Given the description of an element on the screen output the (x, y) to click on. 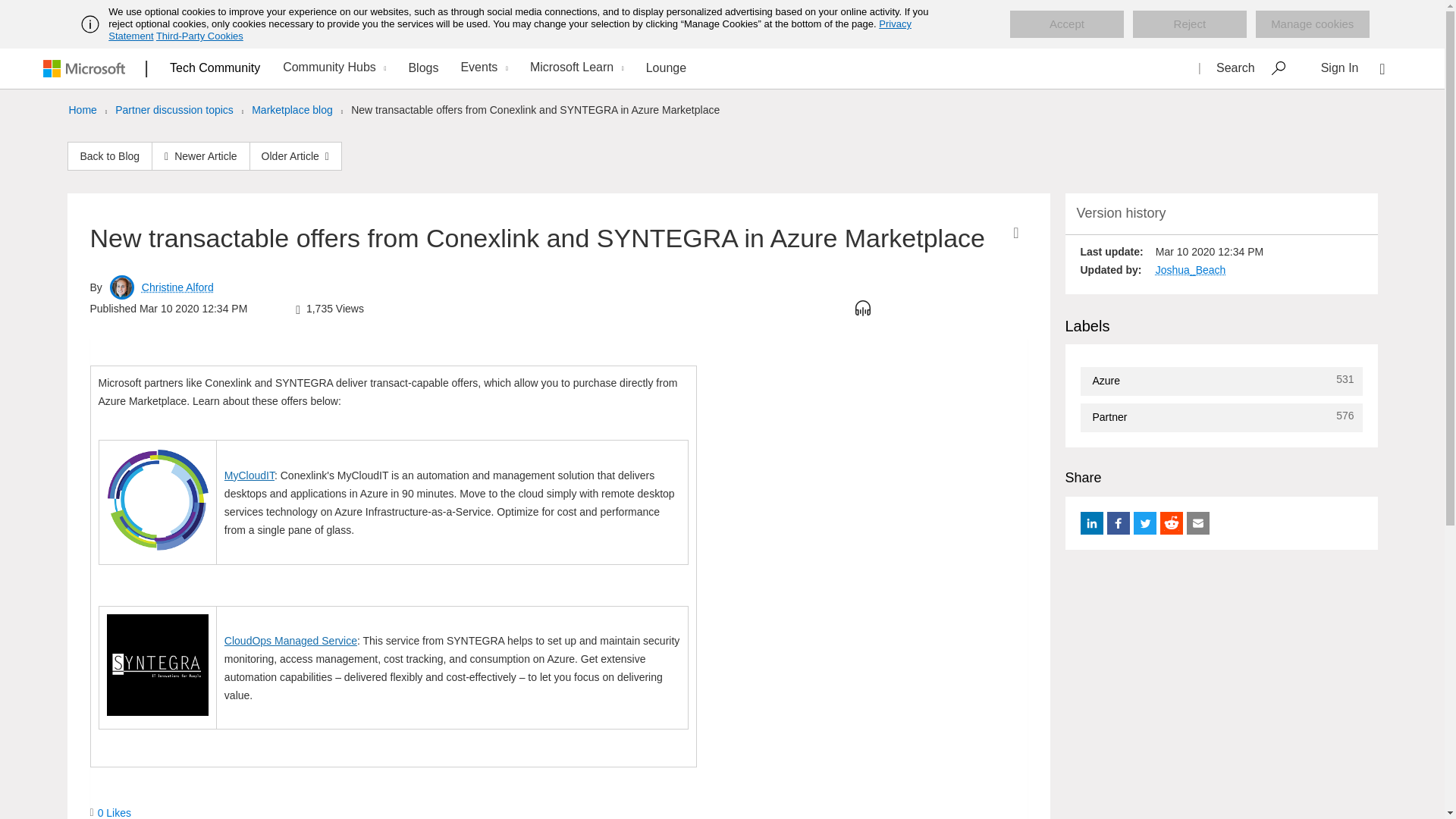
Privacy Statement (509, 29)
Tech Community (215, 67)
Accept (1067, 23)
Third-Party Cookies (199, 35)
Manage cookies (1312, 23)
Community Hubs (332, 67)
Reject (1189, 23)
